Given the description of an element on the screen output the (x, y) to click on. 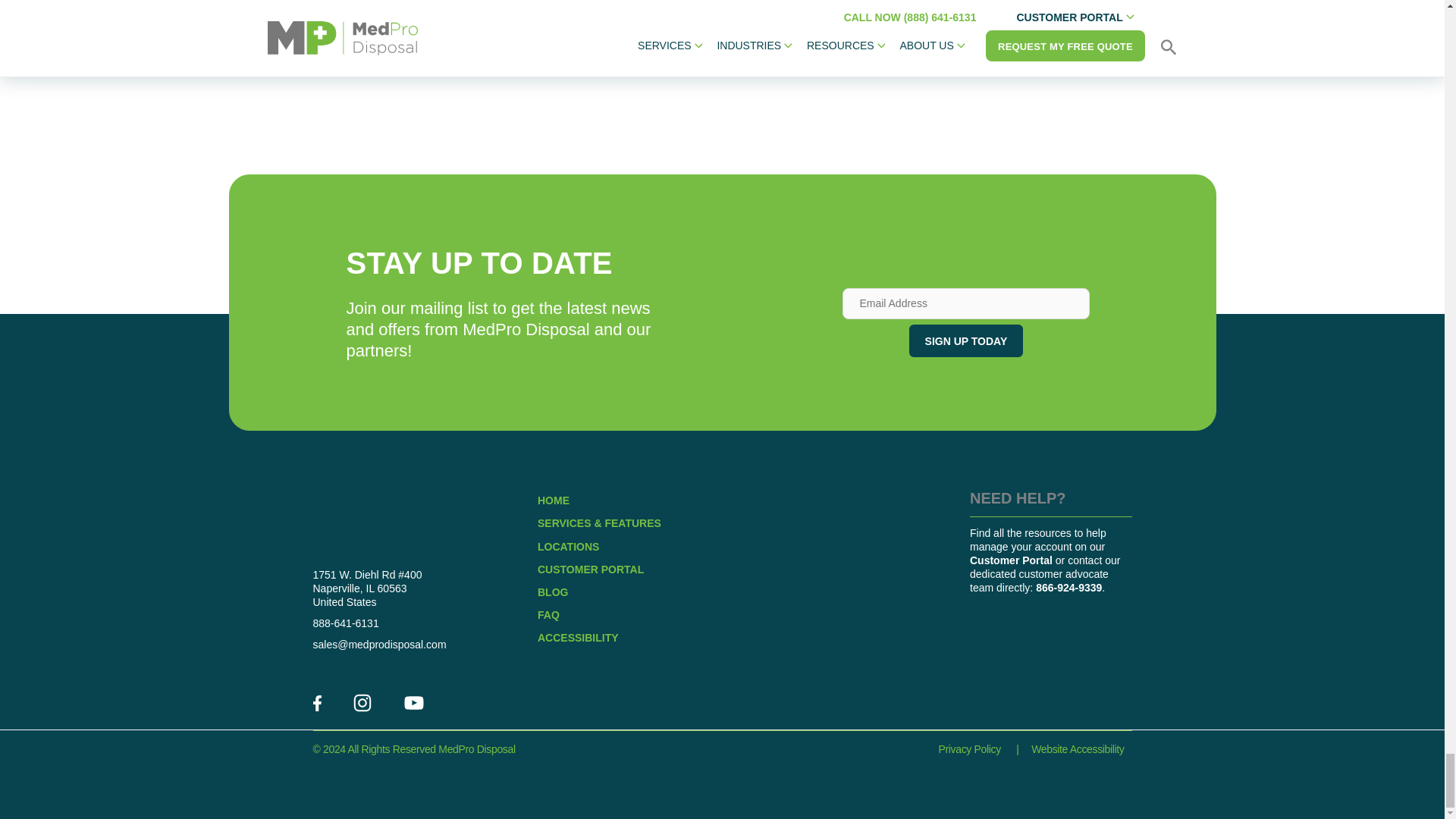
Sign Up Today (966, 340)
